Given the description of an element on the screen output the (x, y) to click on. 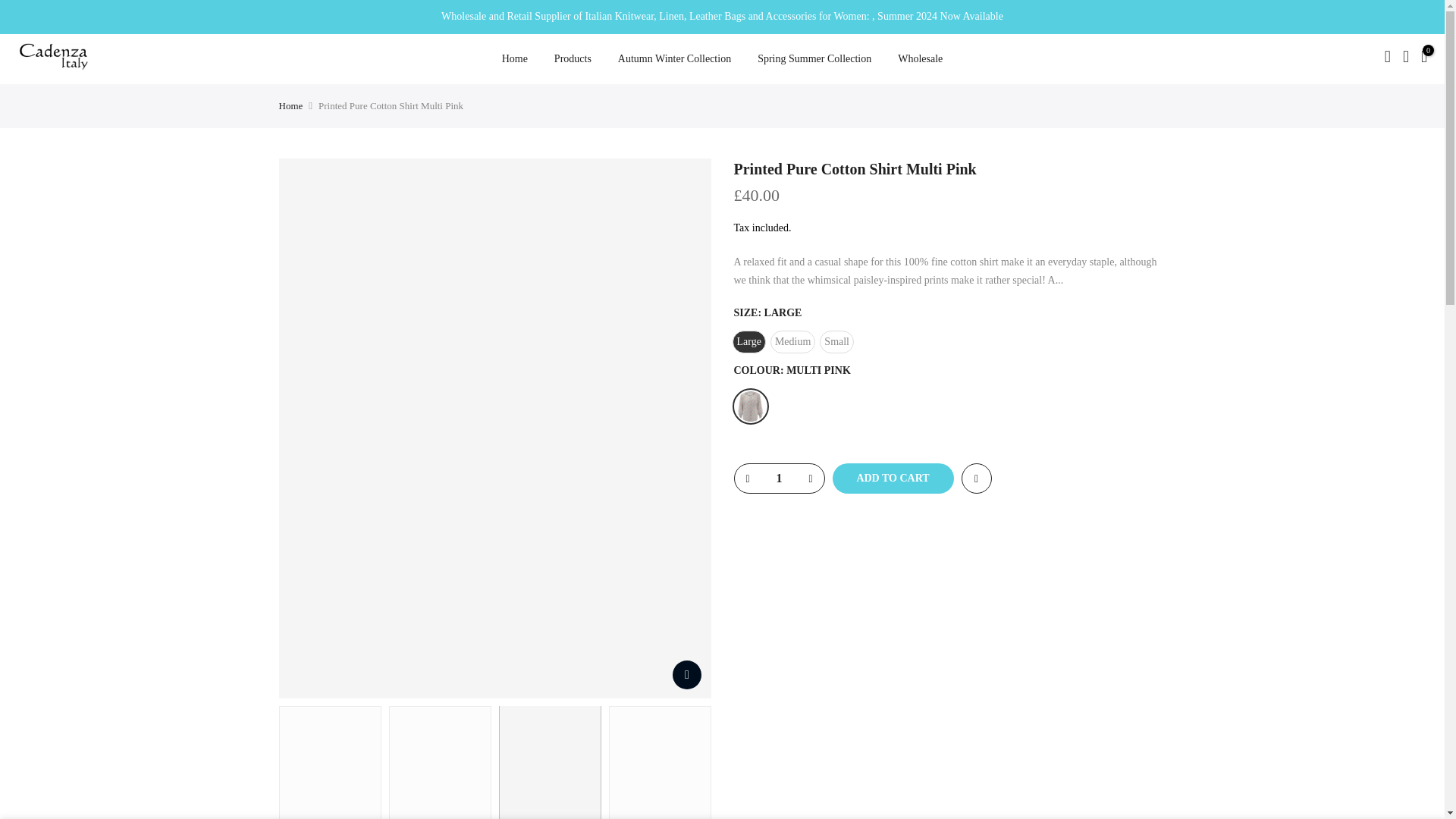
Spring Summer Collection (814, 58)
Products (572, 58)
Autumn Winter Collection (674, 58)
1 (778, 478)
Home (513, 58)
ADD TO CART (892, 478)
Home (290, 105)
Wholesale (920, 58)
